Given the description of an element on the screen output the (x, y) to click on. 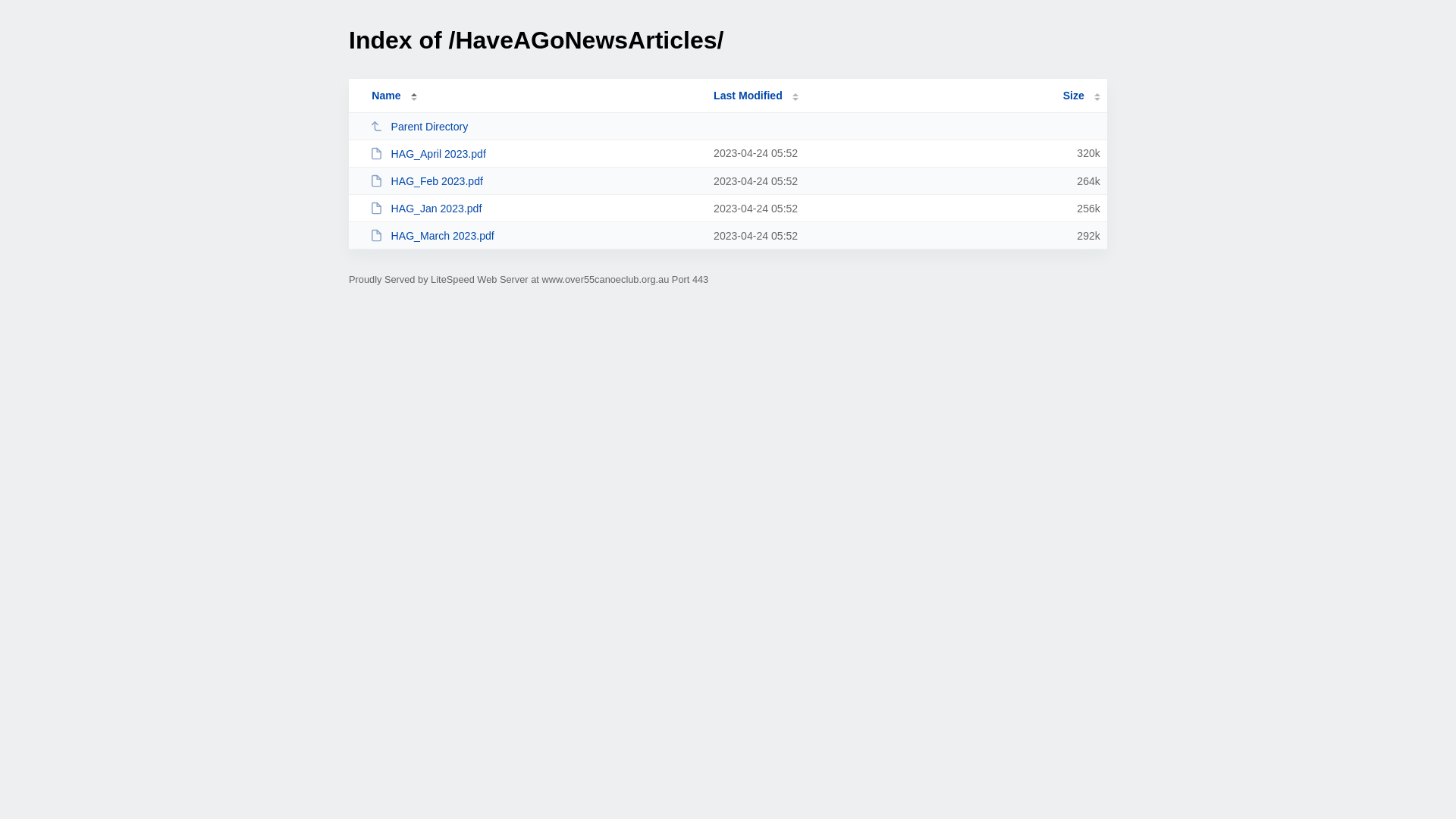
Parent Directory Element type: text (534, 125)
Name Element type: text (385, 95)
HAG_Feb 2023.pdf Element type: text (534, 180)
Size Element type: text (1081, 95)
Last Modified Element type: text (755, 95)
HAG_Jan 2023.pdf Element type: text (534, 207)
HAG_April 2023.pdf Element type: text (534, 153)
HAG_March 2023.pdf Element type: text (534, 235)
